Given the description of an element on the screen output the (x, y) to click on. 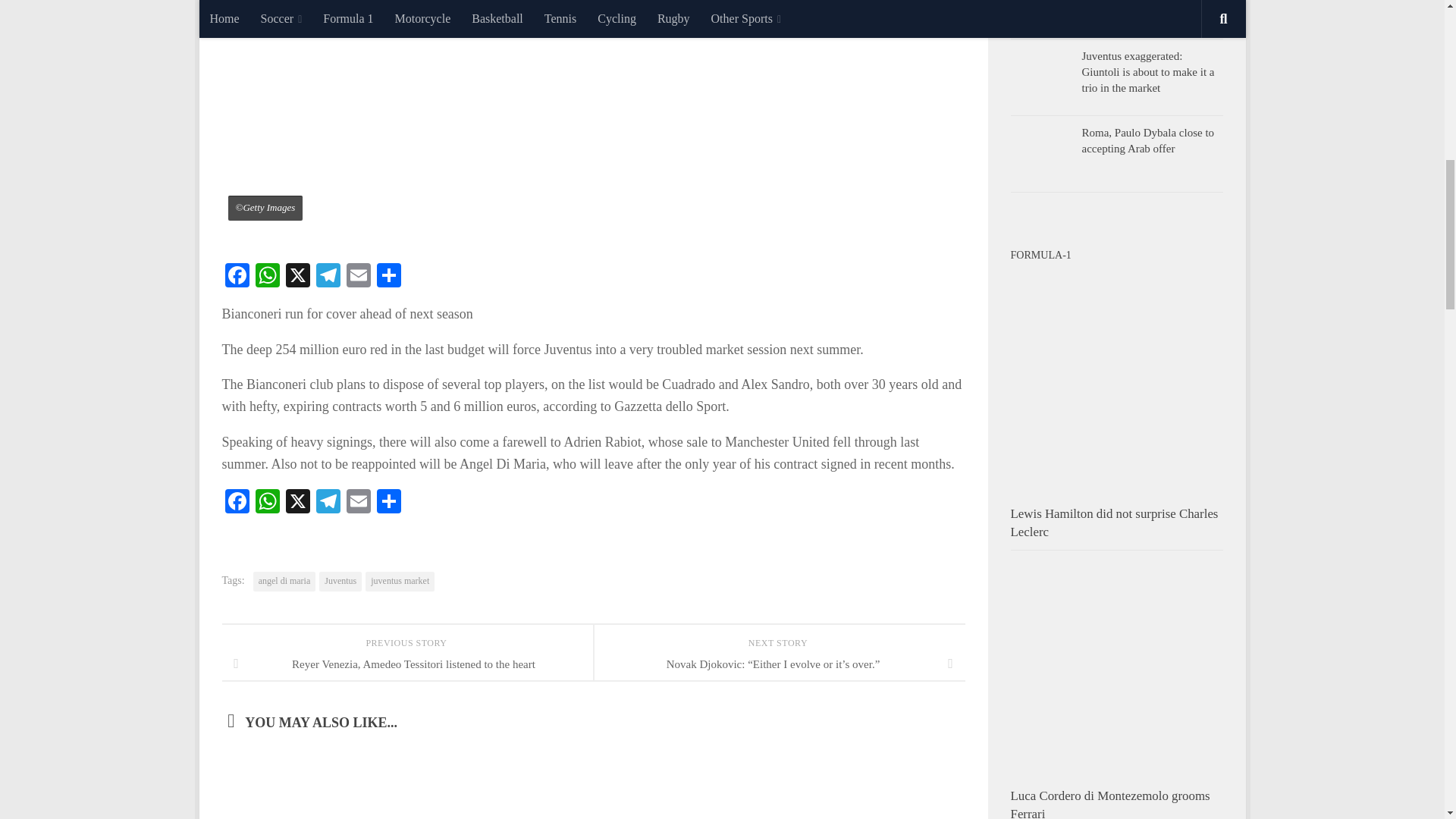
Telegram (327, 276)
WhatsApp (266, 276)
Email (357, 502)
Facebook (236, 276)
Facebook (236, 502)
Telegram (327, 276)
WhatsApp (266, 276)
X (297, 276)
Telegram (327, 502)
X (297, 502)
